Given the description of an element on the screen output the (x, y) to click on. 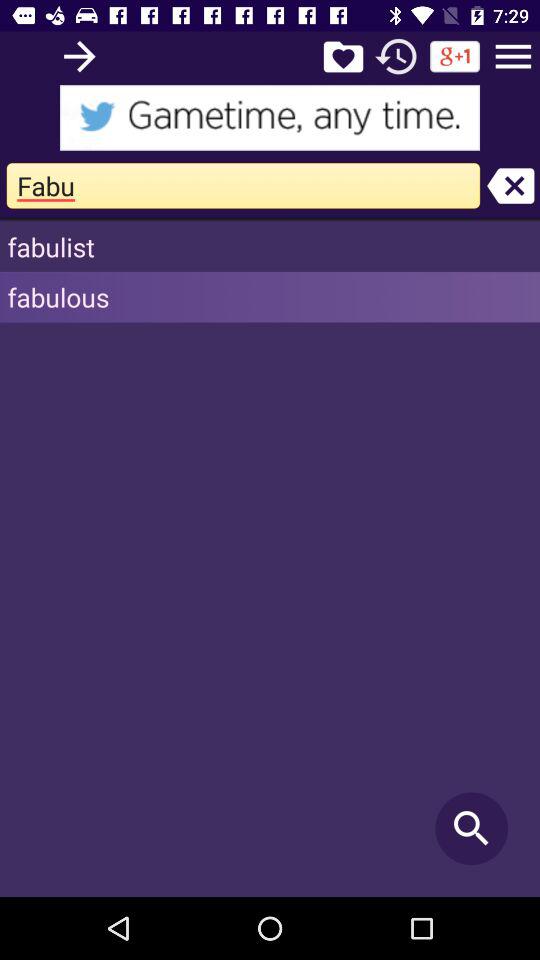
clear the text in search (510, 185)
